Given the description of an element on the screen output the (x, y) to click on. 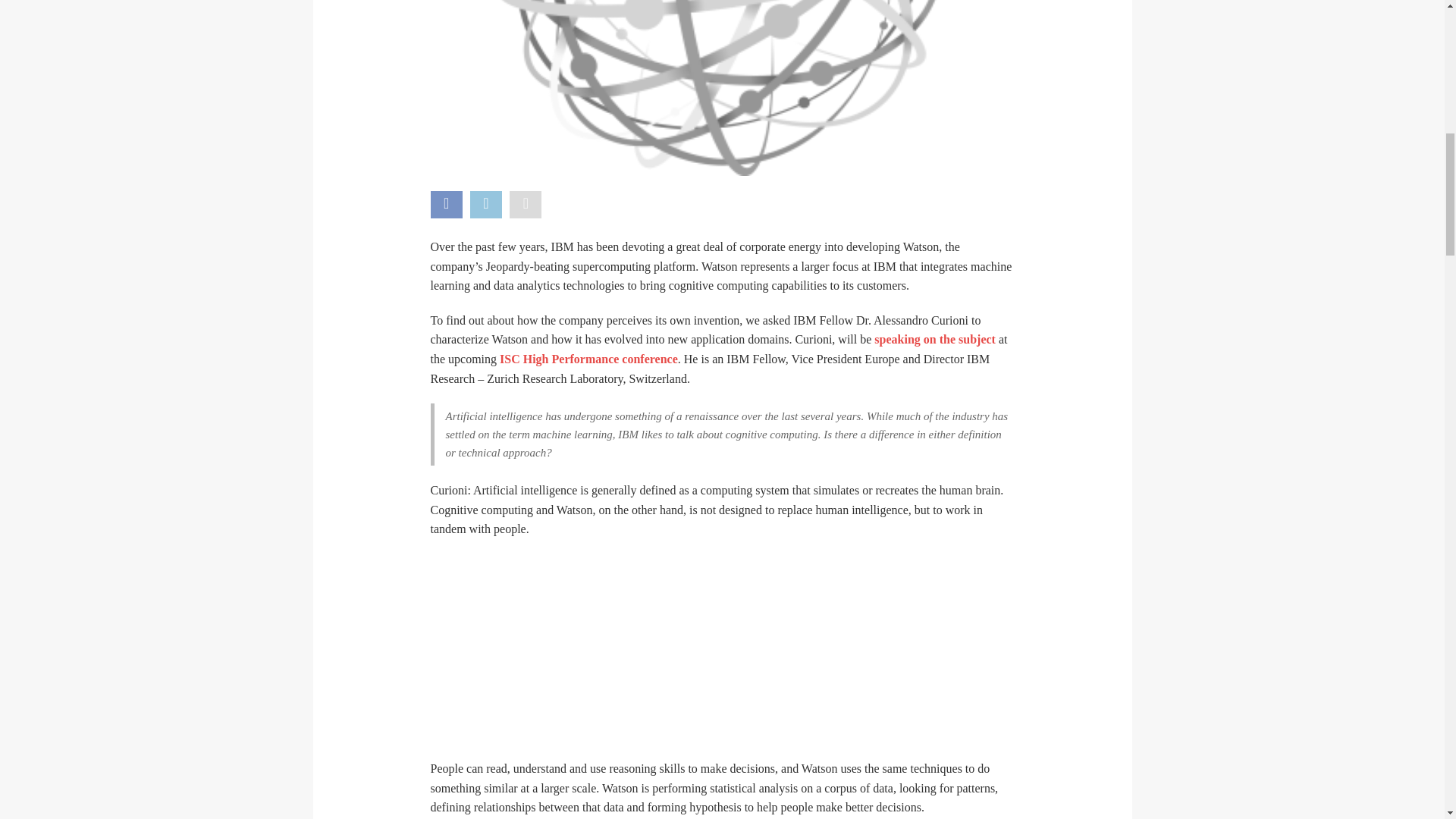
3rd party ad content (721, 648)
